Given the description of an element on the screen output the (x, y) to click on. 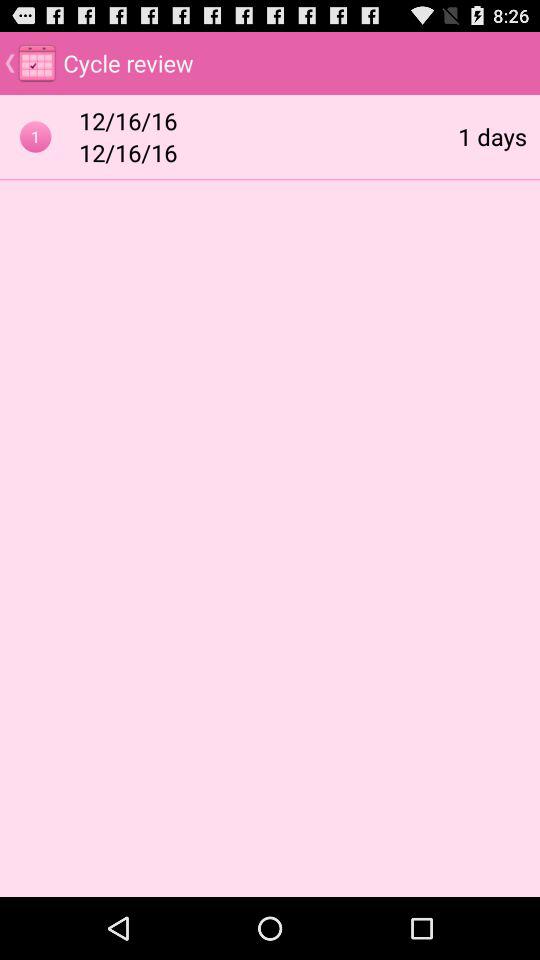
click app to the right of the 12/16/16 app (492, 136)
